Given the description of an element on the screen output the (x, y) to click on. 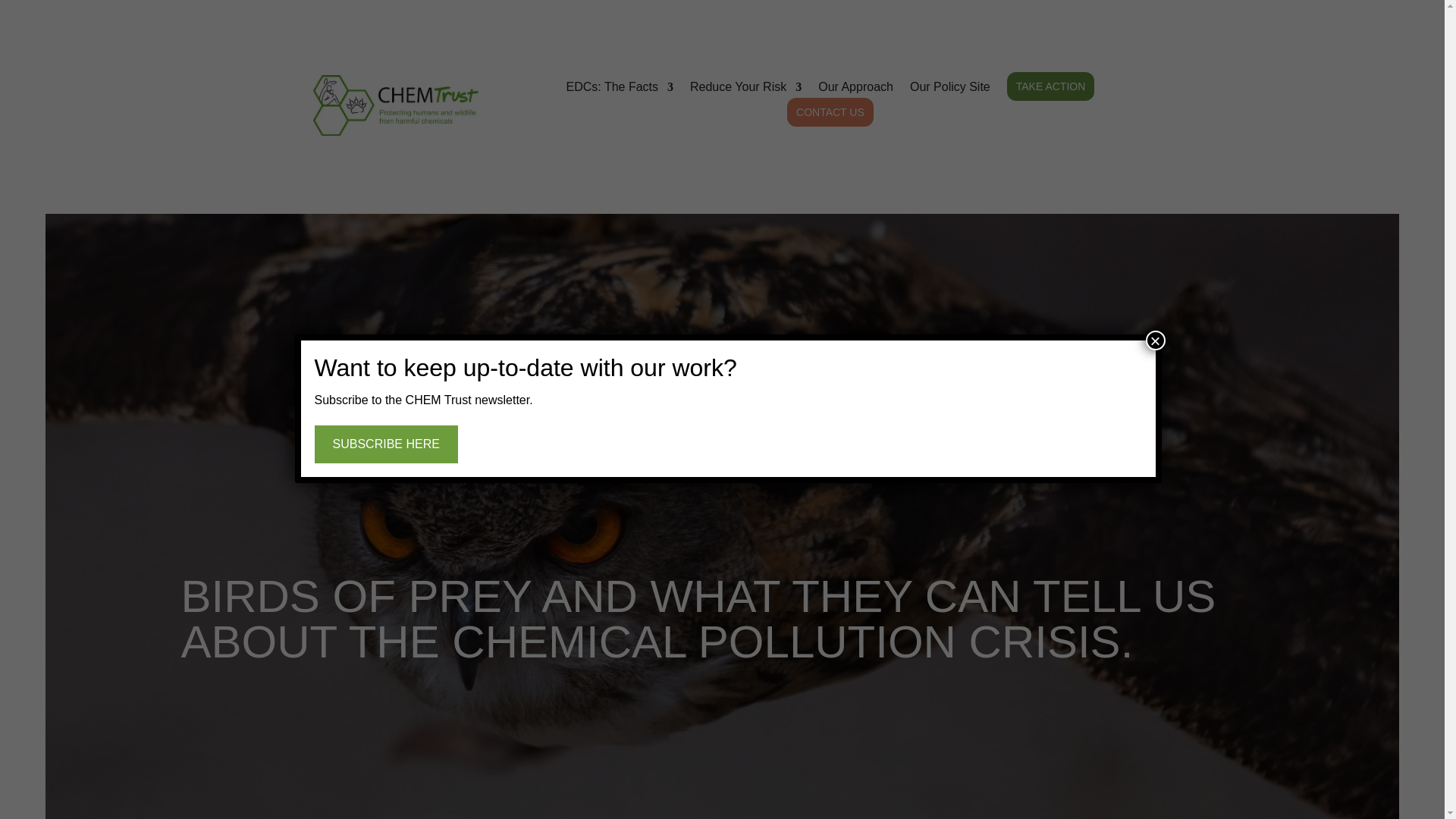
Our Policy Site (950, 90)
CONTACT US (830, 111)
TAKE ACTION (1050, 86)
EDCs: The Facts (619, 90)
Our Approach (855, 90)
Reduce Your Risk (746, 90)
